Given the description of an element on the screen output the (x, y) to click on. 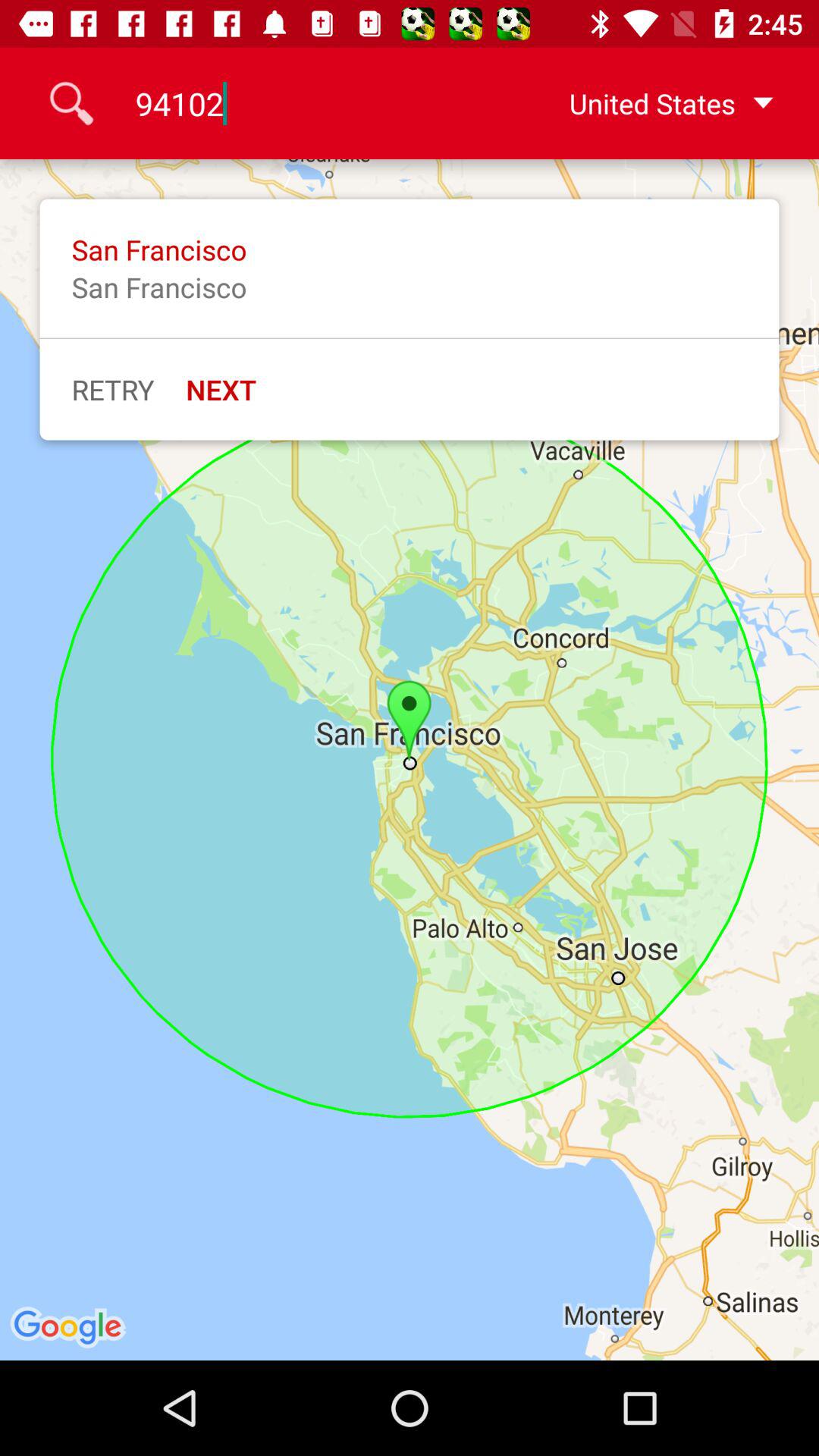
scroll to united states (647, 103)
